Given the description of an element on the screen output the (x, y) to click on. 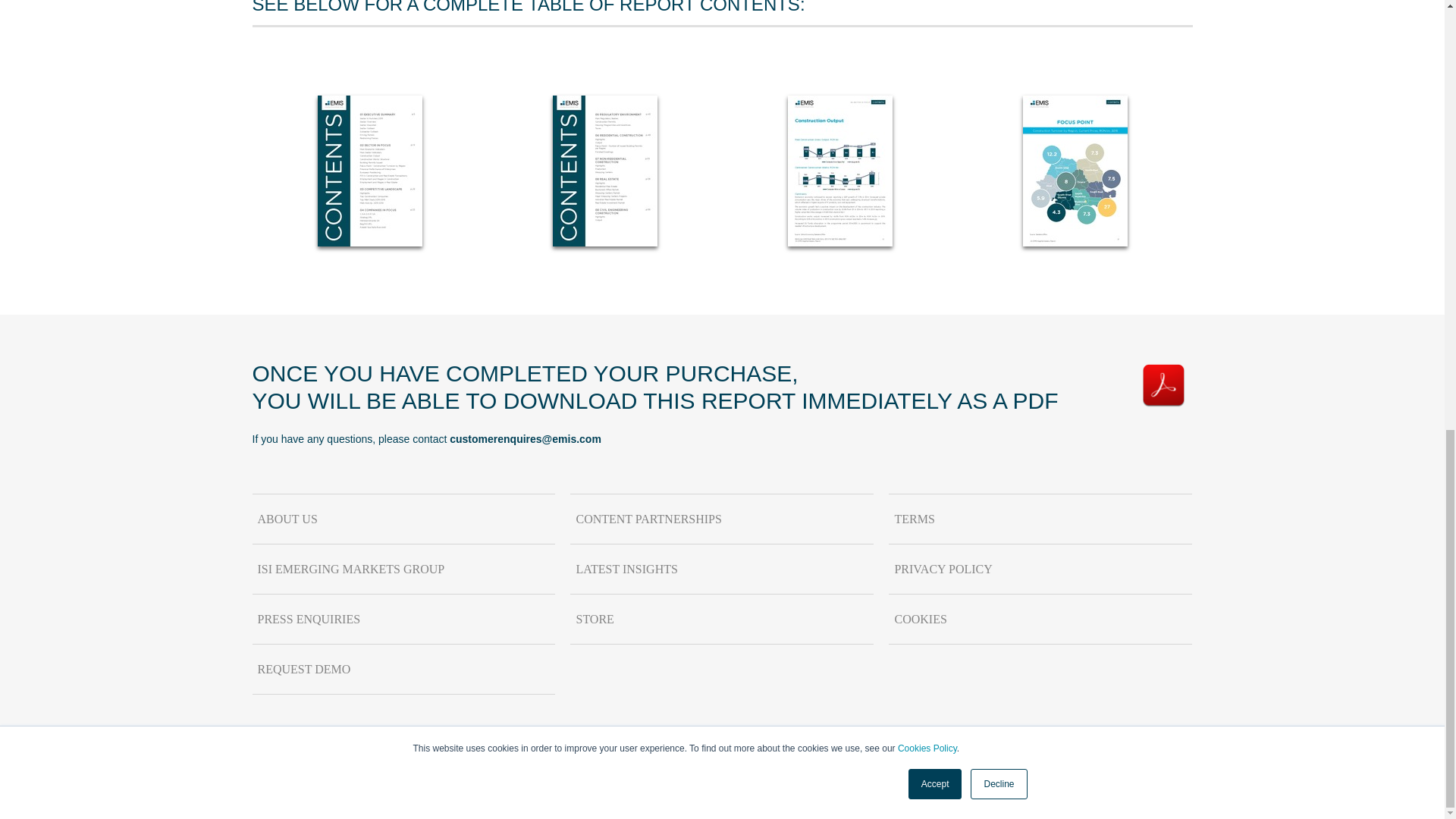
Content Partnerships (721, 518)
Privacy Policy (1040, 569)
Request demo (402, 669)
Cookies (1040, 619)
ISI Emerging Markets Group (402, 569)
Press Enquiries (402, 619)
Latest Insights (721, 569)
About us (402, 518)
Store (721, 619)
Terms (1040, 518)
